Given the description of an element on the screen output the (x, y) to click on. 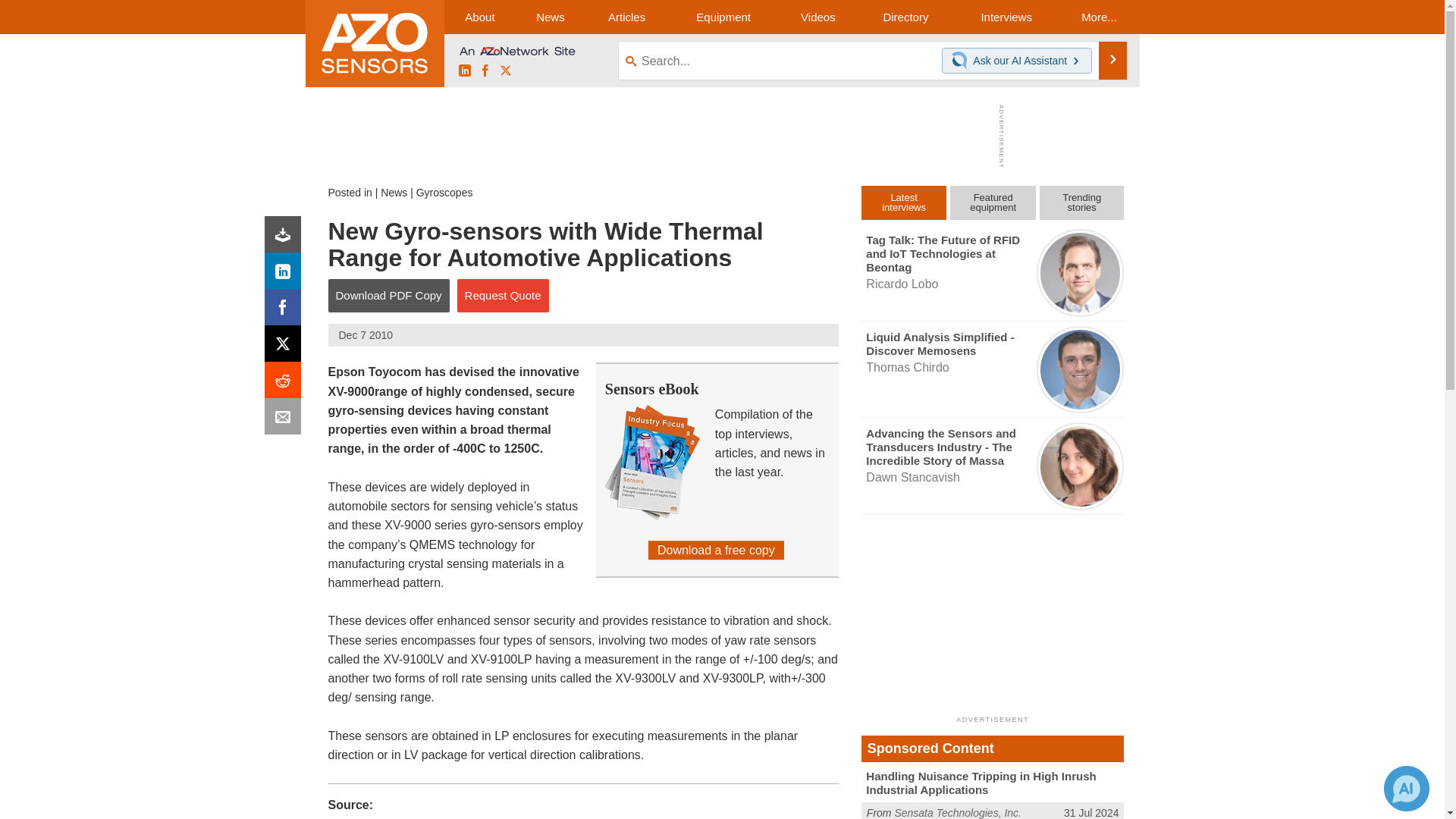
Download PDF copy (285, 238)
Facebook (285, 311)
News (550, 17)
Chat with our AI Assistant (962, 60)
X (505, 71)
X (285, 348)
Chat with our AI Assistant Ask our AI Assistant (1017, 60)
Equipment (723, 17)
Download PDF Copy (387, 295)
More... (1098, 17)
LinkedIn (285, 275)
News (393, 192)
Gyroscopes (444, 192)
Articles (626, 17)
